Given the description of an element on the screen output the (x, y) to click on. 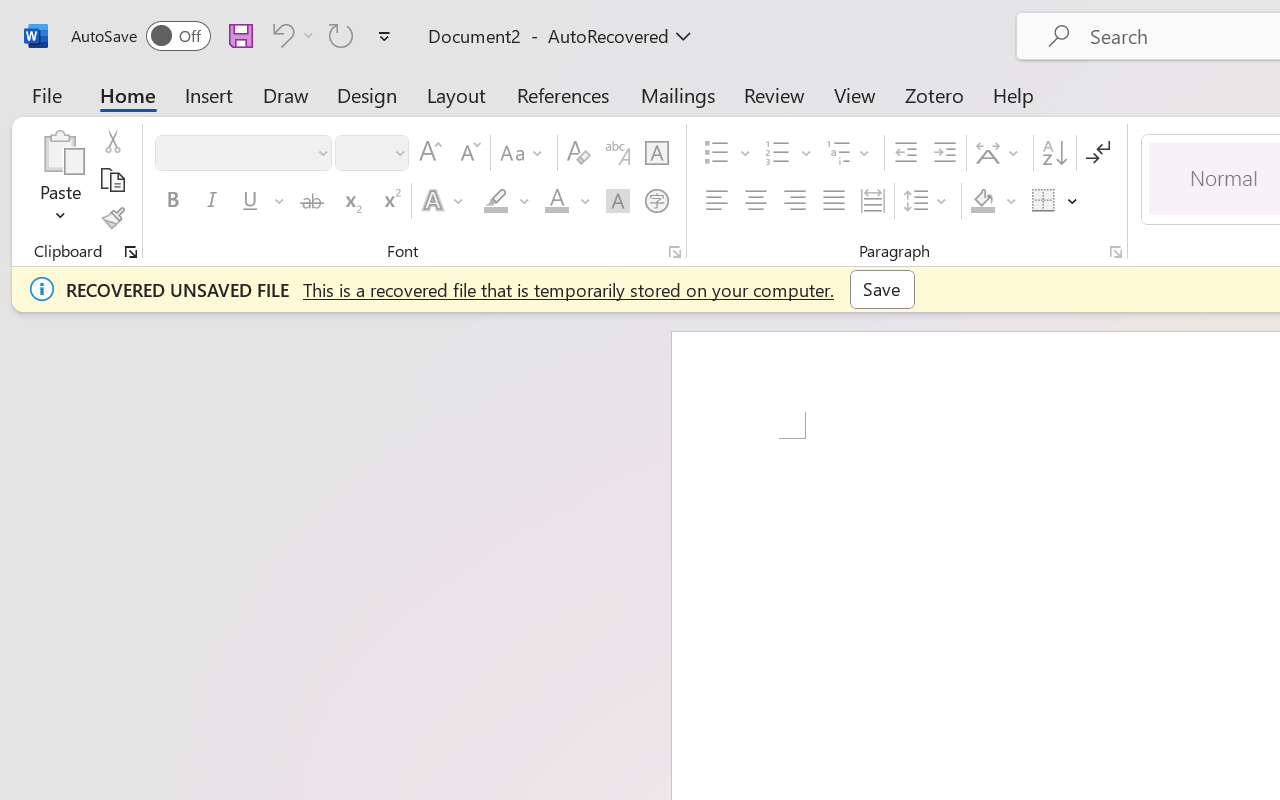
Distributed (872, 201)
Open (399, 152)
Paragraph... (1115, 252)
Multilevel List (850, 153)
Font Color (567, 201)
Format Painter (112, 218)
Align Left (716, 201)
Show/Hide Editing Marks (1098, 153)
Cut (112, 141)
Character Shading (618, 201)
